Given the description of an element on the screen output the (x, y) to click on. 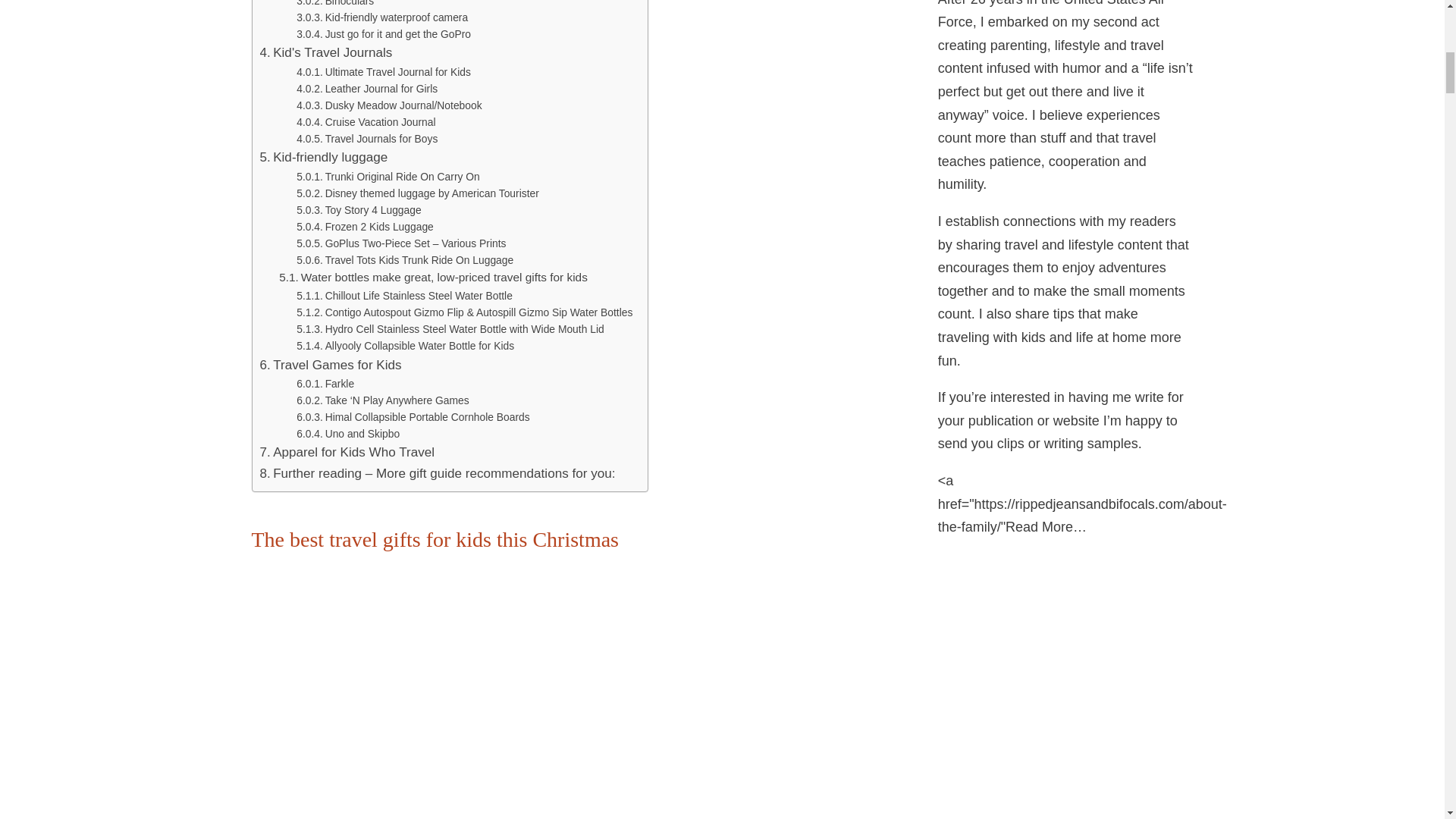
Binoculars (335, 4)
Ultimate Travel Journal for Kids (383, 71)
Kid's Travel Journals (325, 52)
Kid-friendly waterproof camera (382, 17)
Just go for it and get the GoPro (383, 33)
